Given the description of an element on the screen output the (x, y) to click on. 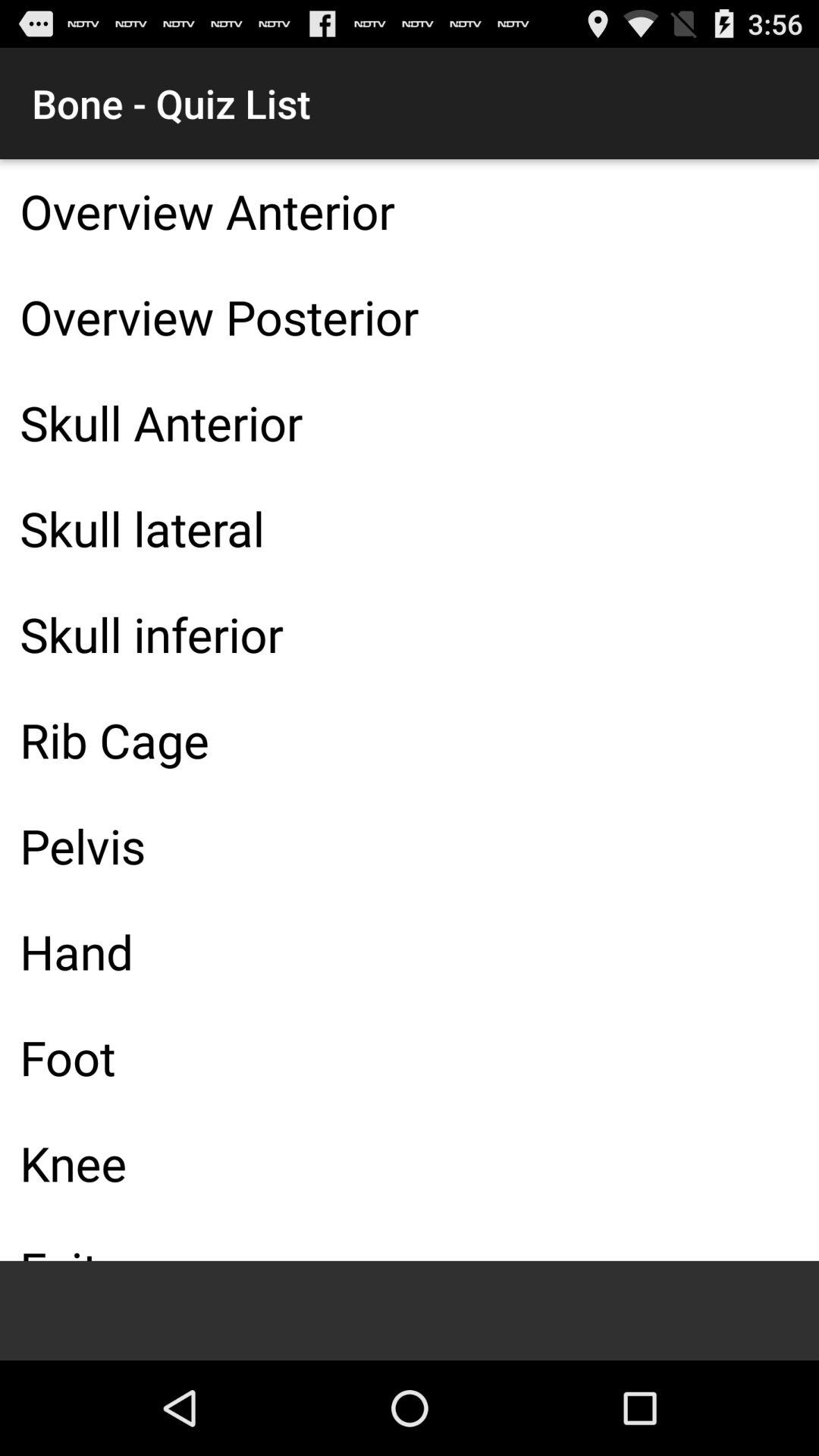
swipe until the knee (409, 1162)
